Given the description of an element on the screen output the (x, y) to click on. 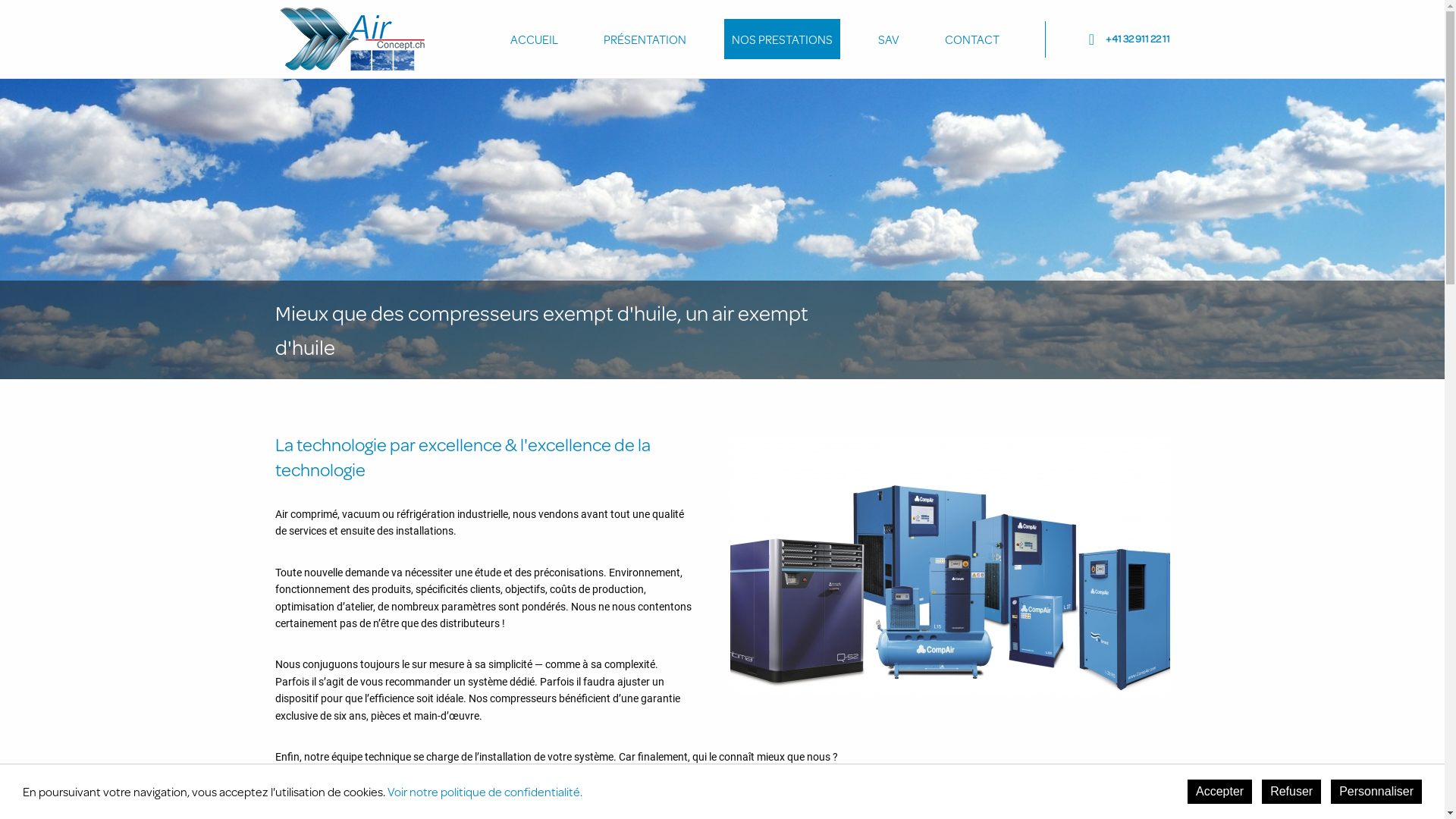
Refuser Element type: text (1291, 791)
+41 32 911 22 11 Element type: text (1100, 39)
CONTACT Element type: text (972, 38)
SAV Element type: text (888, 38)
NOS PRESTATIONS Element type: text (781, 38)
Personnaliser Element type: text (1375, 791)
Accepter Element type: text (1219, 791)
ACCUEIL Element type: text (533, 38)
